Given the description of an element on the screen output the (x, y) to click on. 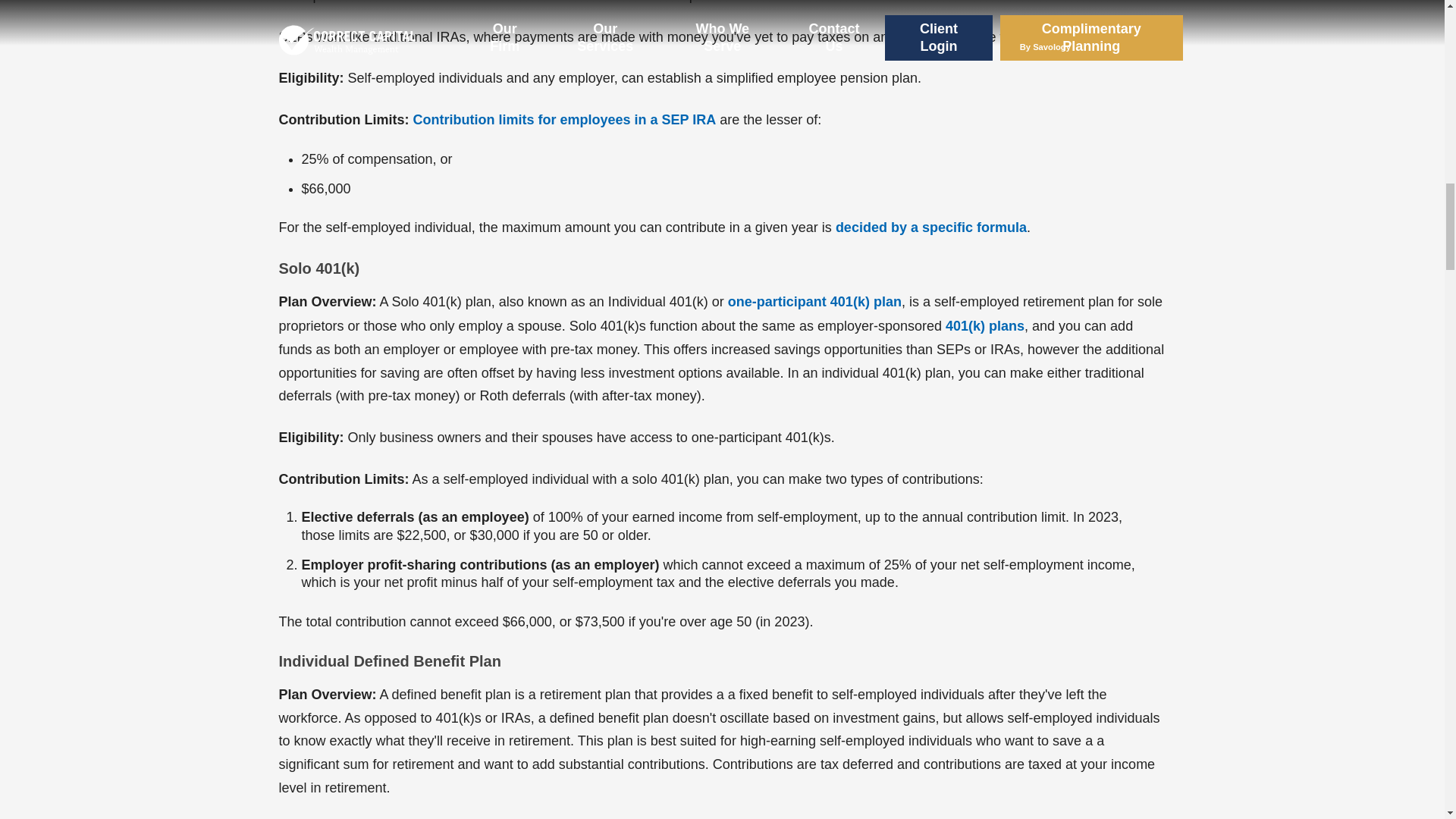
decided by a specific formula (930, 228)
Contribution limits for employees in a SEP IRA (564, 120)
